Given the description of an element on the screen output the (x, y) to click on. 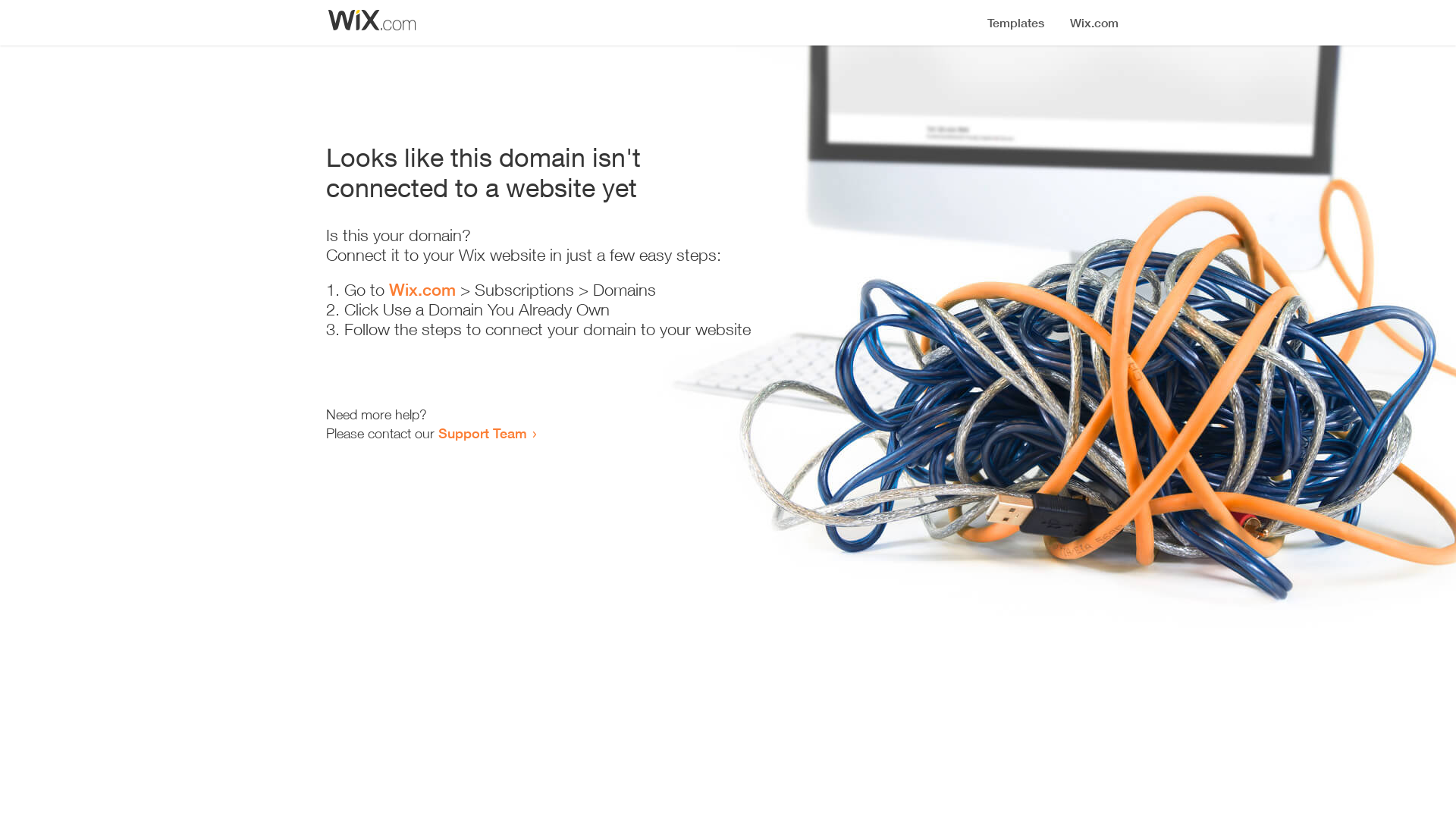
Support Team Element type: text (482, 432)
Wix.com Element type: text (422, 289)
